Given the description of an element on the screen output the (x, y) to click on. 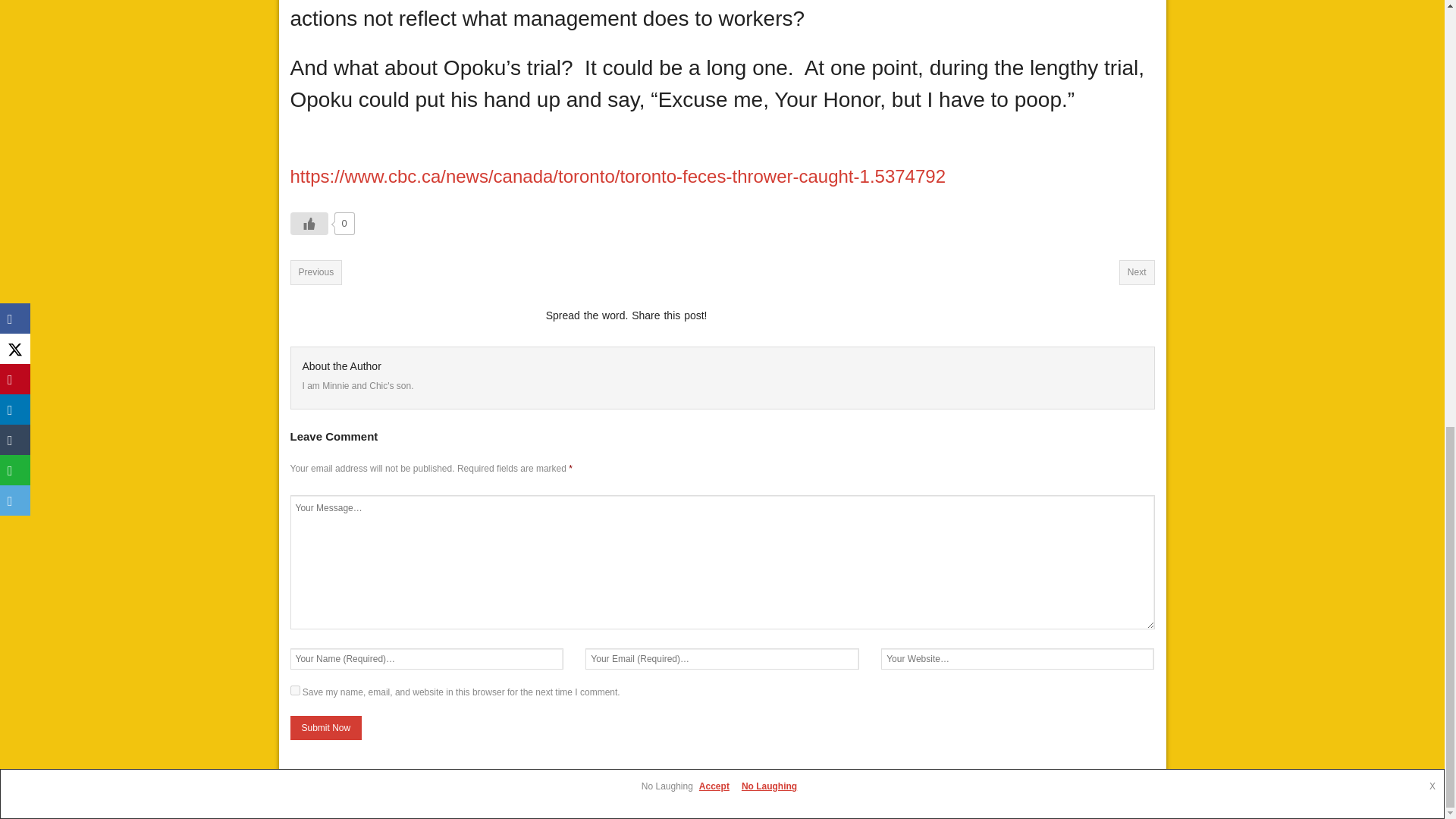
Previous (315, 272)
Submit Now (325, 727)
Next (1136, 272)
WordPress (494, 796)
yes (294, 690)
Submit Now (325, 727)
Think Up Themes Ltd (383, 796)
